Given the description of an element on the screen output the (x, y) to click on. 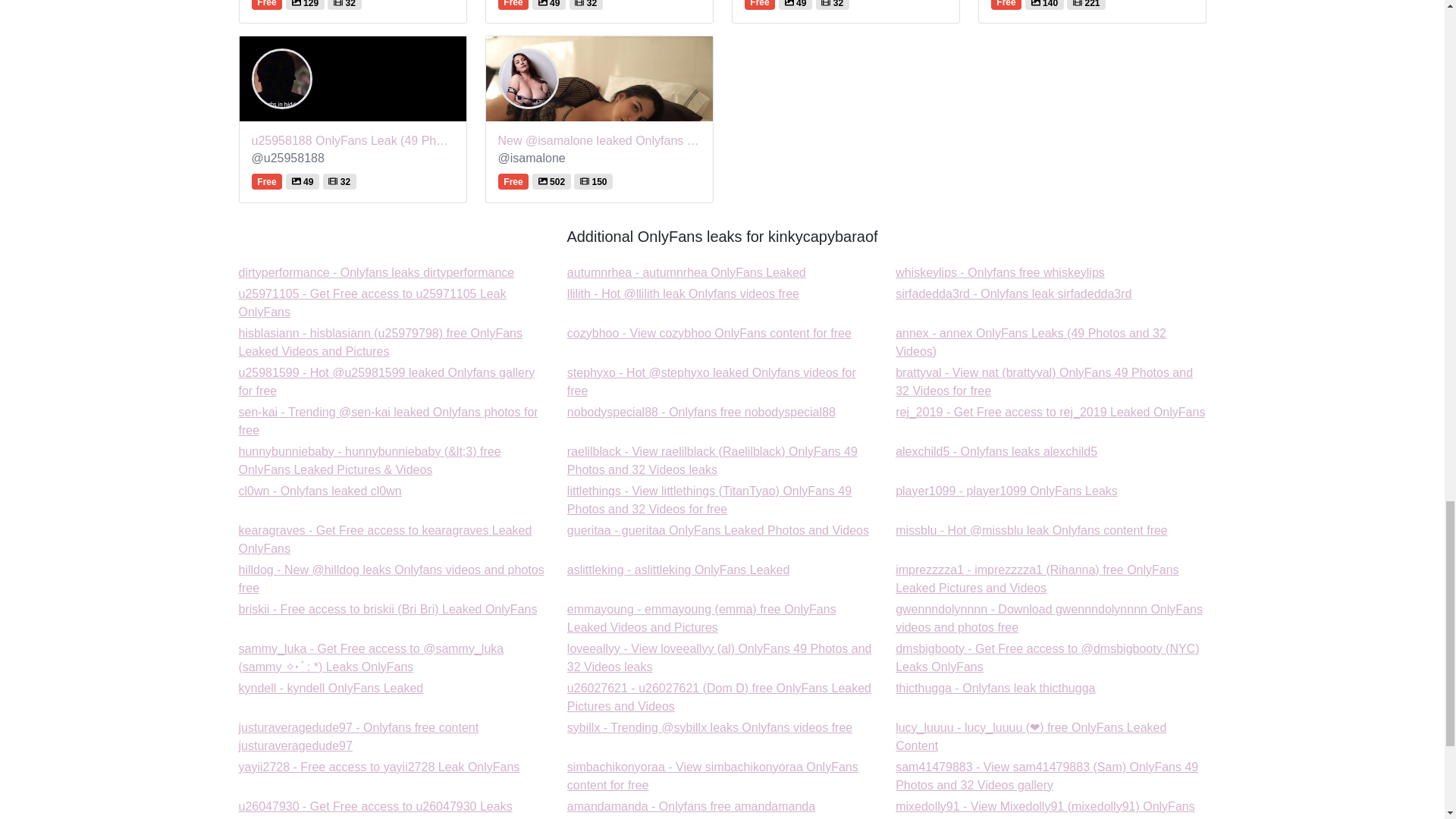
sirfadedda3rd - Onlyfans leak sirfadedda3rd (686, 272)
autumnrhea - autumnrhea OnlyFans Leaked (1013, 293)
cozybhoo - View cozybhoo OnlyFans content for free (996, 451)
whiskeylips - Onlyfans free whiskeylips (686, 272)
dirtyperformance - Onlyfans leaks dirtyperformance (319, 490)
u25971105 - Get Free access to u25971105 Leak OnlyFans (709, 332)
